Given the description of an element on the screen output the (x, y) to click on. 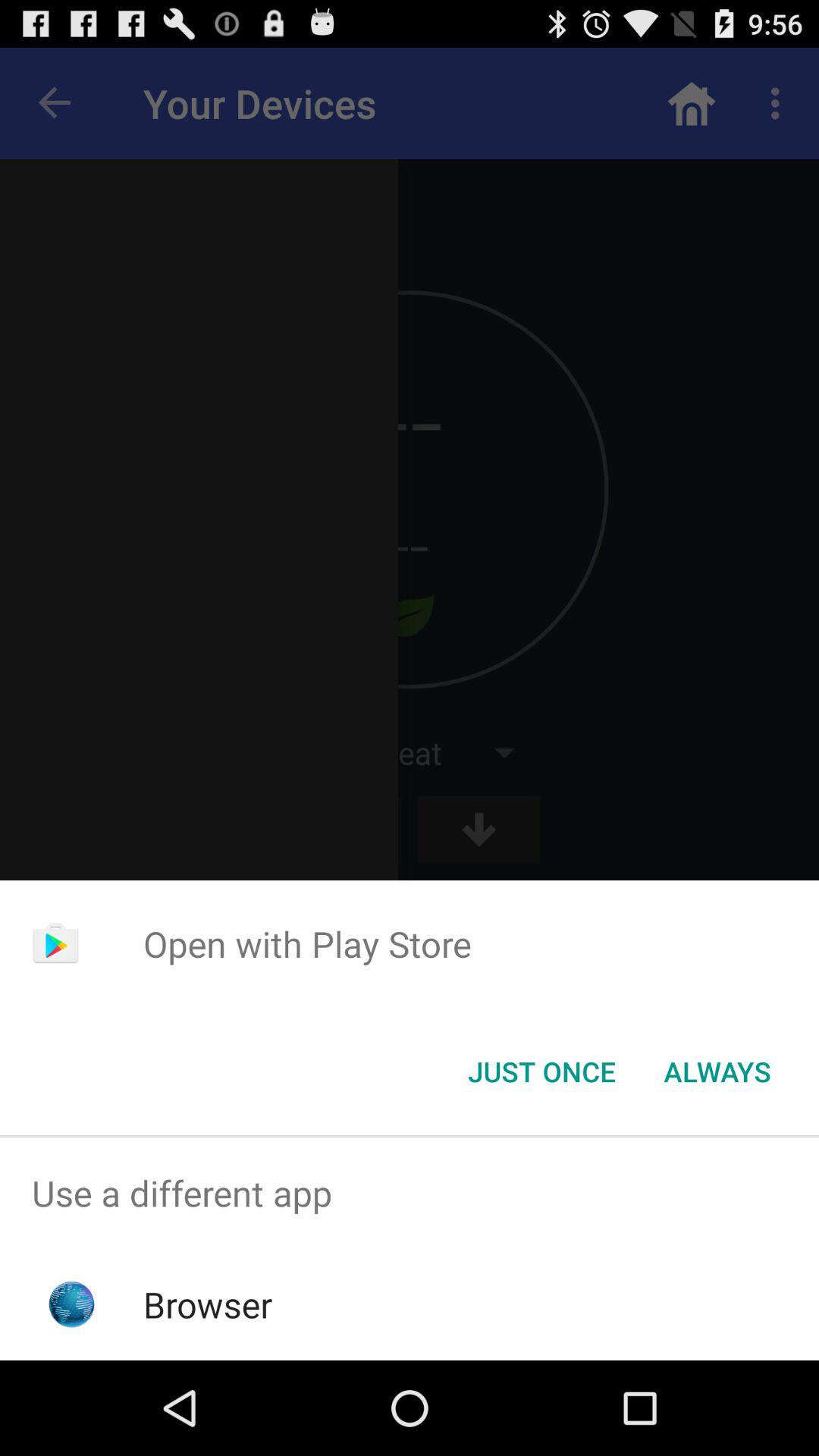
swipe to the use a different item (409, 1192)
